Given the description of an element on the screen output the (x, y) to click on. 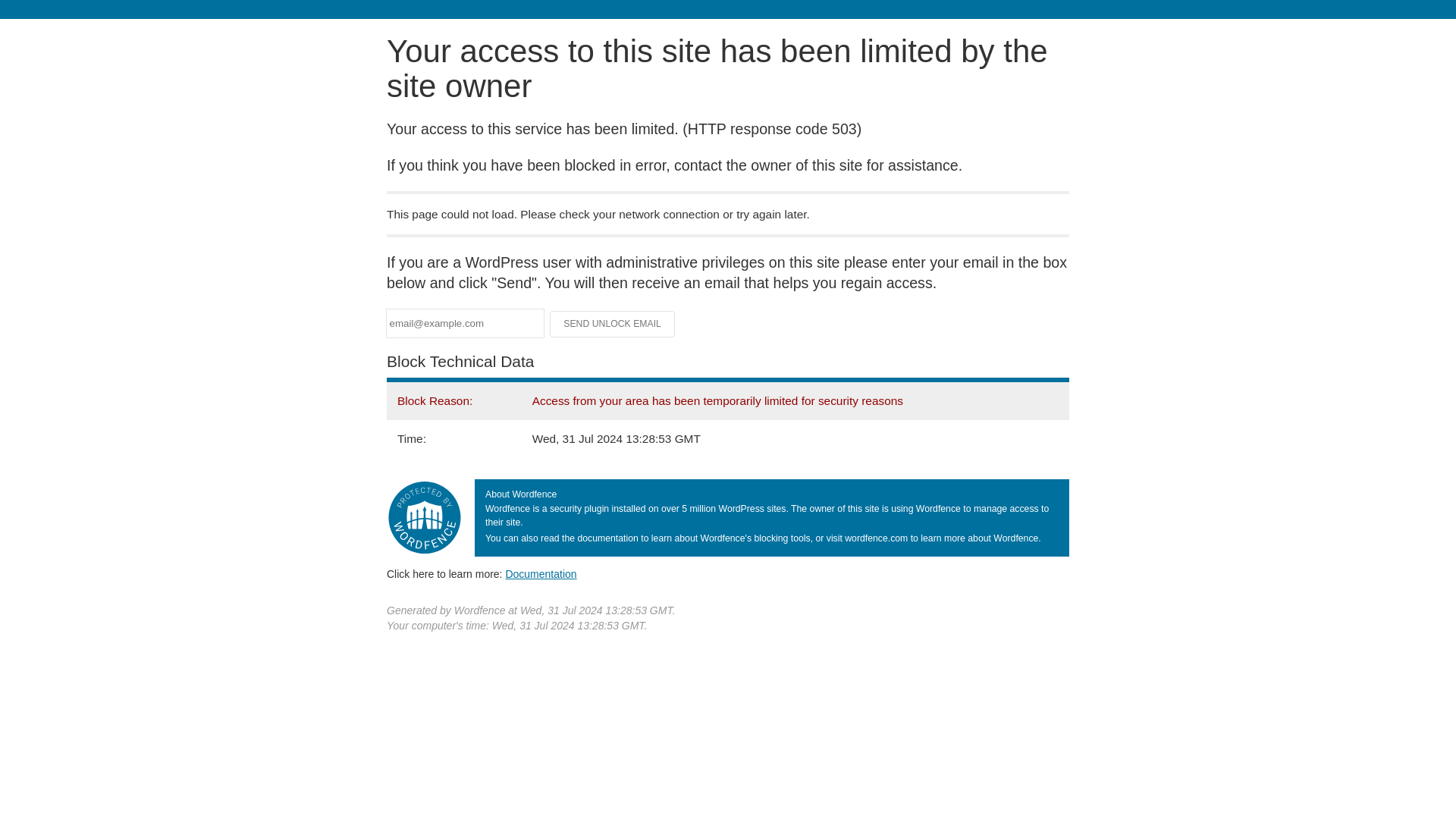
Send Unlock Email (612, 323)
Send Unlock Email (612, 323)
